Given the description of an element on the screen output the (x, y) to click on. 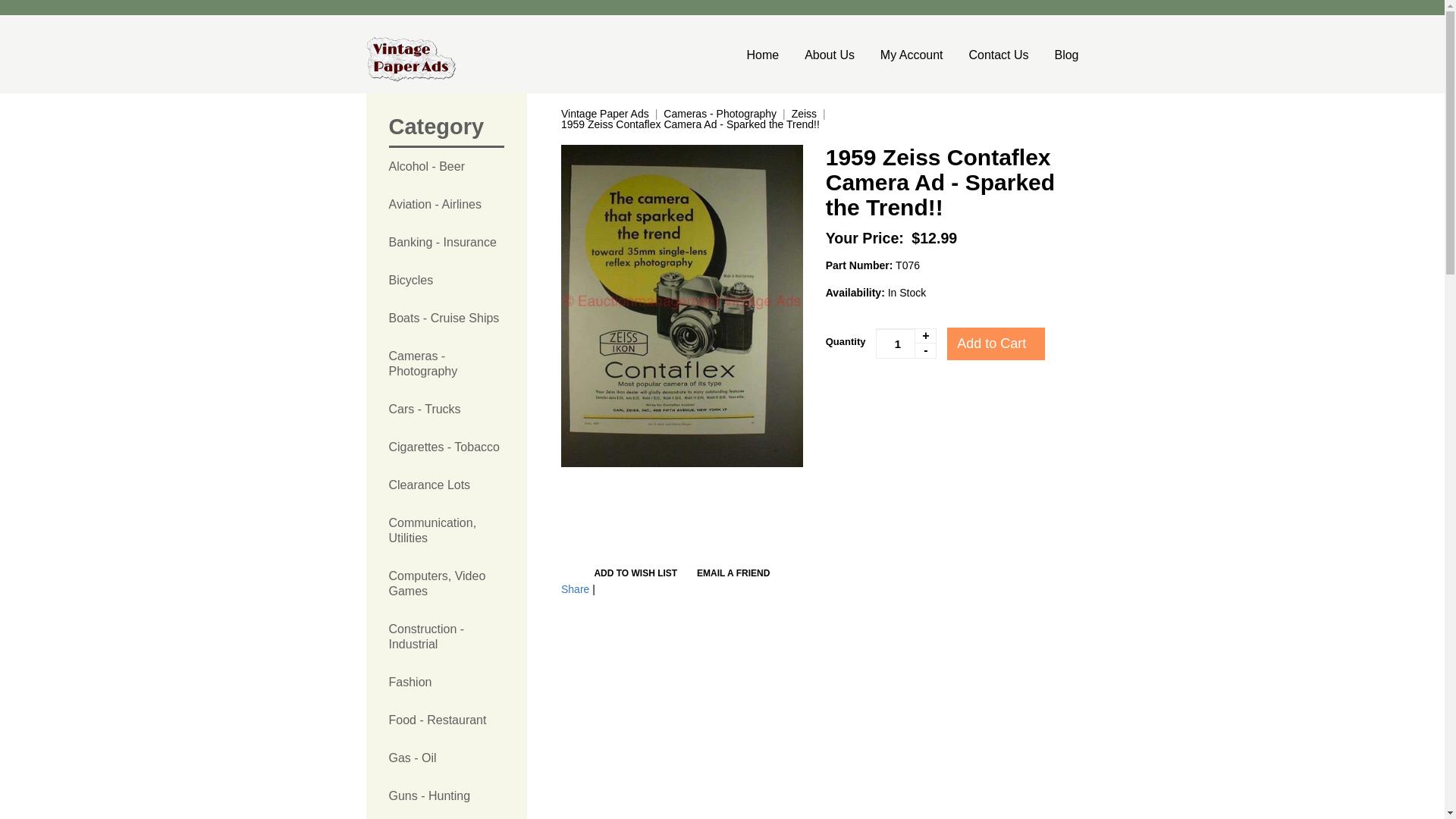
Clearance Lots (445, 485)
Cars - Trucks (445, 409)
Blog (1060, 54)
Contact Us (997, 54)
Communication, Utilities (445, 530)
Alcohol - Beer (445, 166)
Boats - Cruise Ships (445, 318)
Fashion (445, 682)
Construction - Industrial (445, 636)
My Account (912, 54)
Aviation - Airlines (445, 204)
About Us (829, 54)
Cameras - Photography (445, 363)
Computers, Video Games (445, 583)
Guns - Hunting (445, 795)
